Given the description of an element on the screen output the (x, y) to click on. 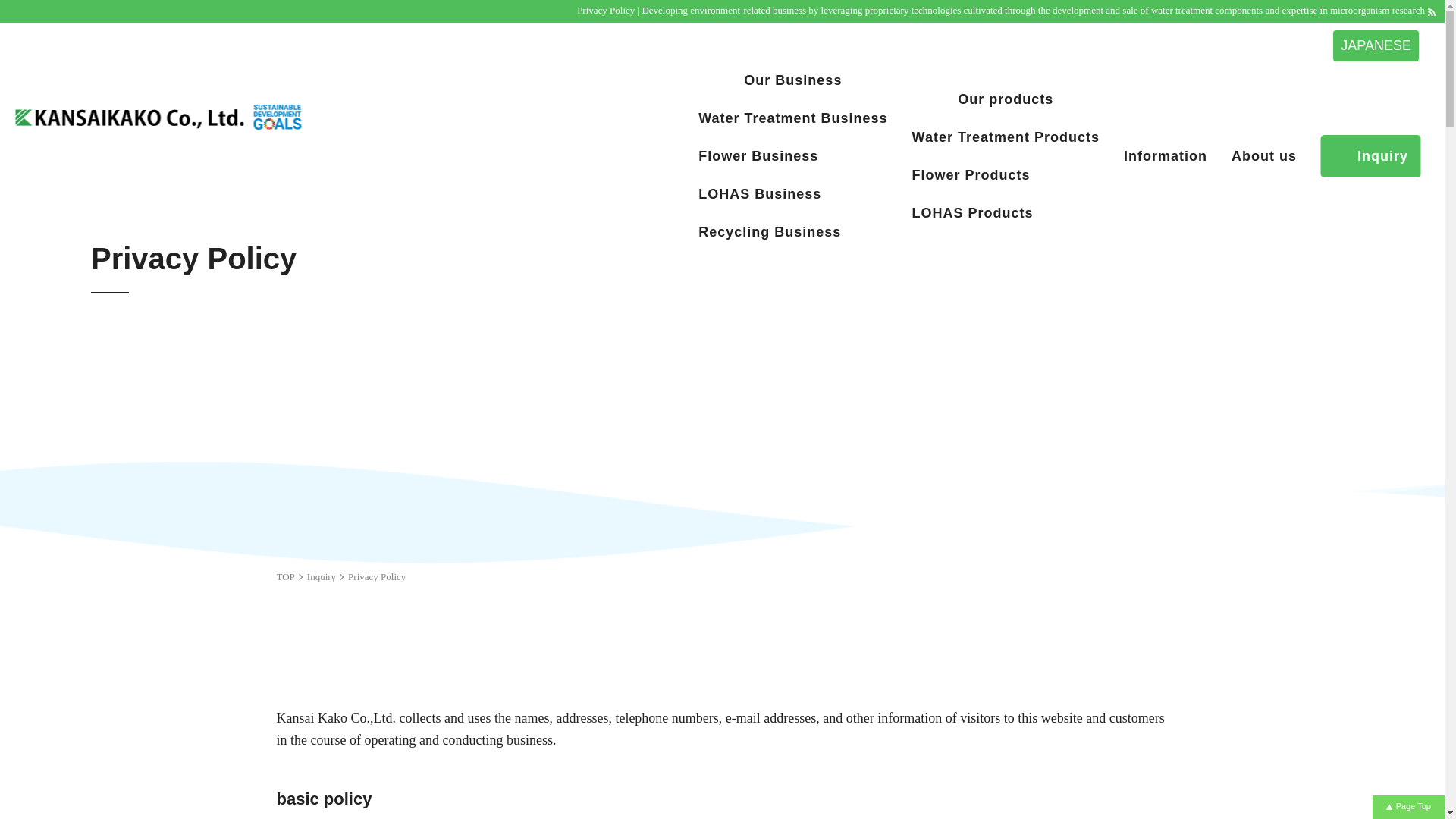
About us (1264, 156)
Water Treatment Products (1005, 136)
Flower Products (1005, 175)
Our Business (792, 80)
Recycling Business (792, 231)
RSS (1431, 11)
Flower Business (792, 156)
Inquiry (321, 576)
Inquiry (1370, 156)
TOP (285, 576)
